Given the description of an element on the screen output the (x, y) to click on. 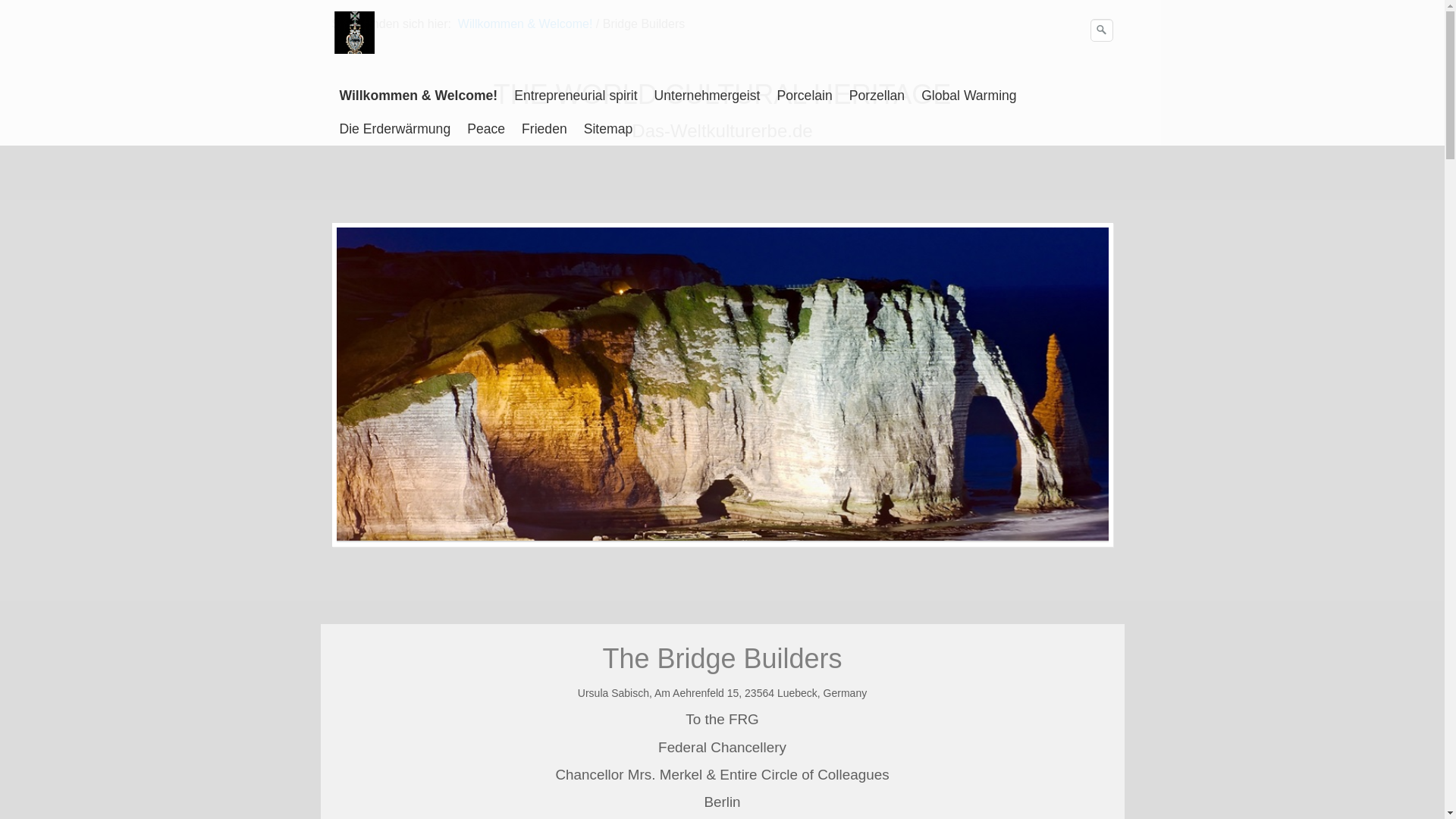
Entrepreneurial spirit (575, 95)
Das-Weltkulturerbe.de Der  Kulturschock 2023 (352, 32)
Peace (486, 128)
Suchen (1101, 29)
Frieden (544, 128)
Global Warming (968, 95)
Unternehmergeist (707, 95)
Porzellan (876, 95)
Sitemap (608, 128)
Suche (1101, 29)
Porcelain (804, 95)
Bridge Builders (643, 23)
